Given the description of an element on the screen output the (x, y) to click on. 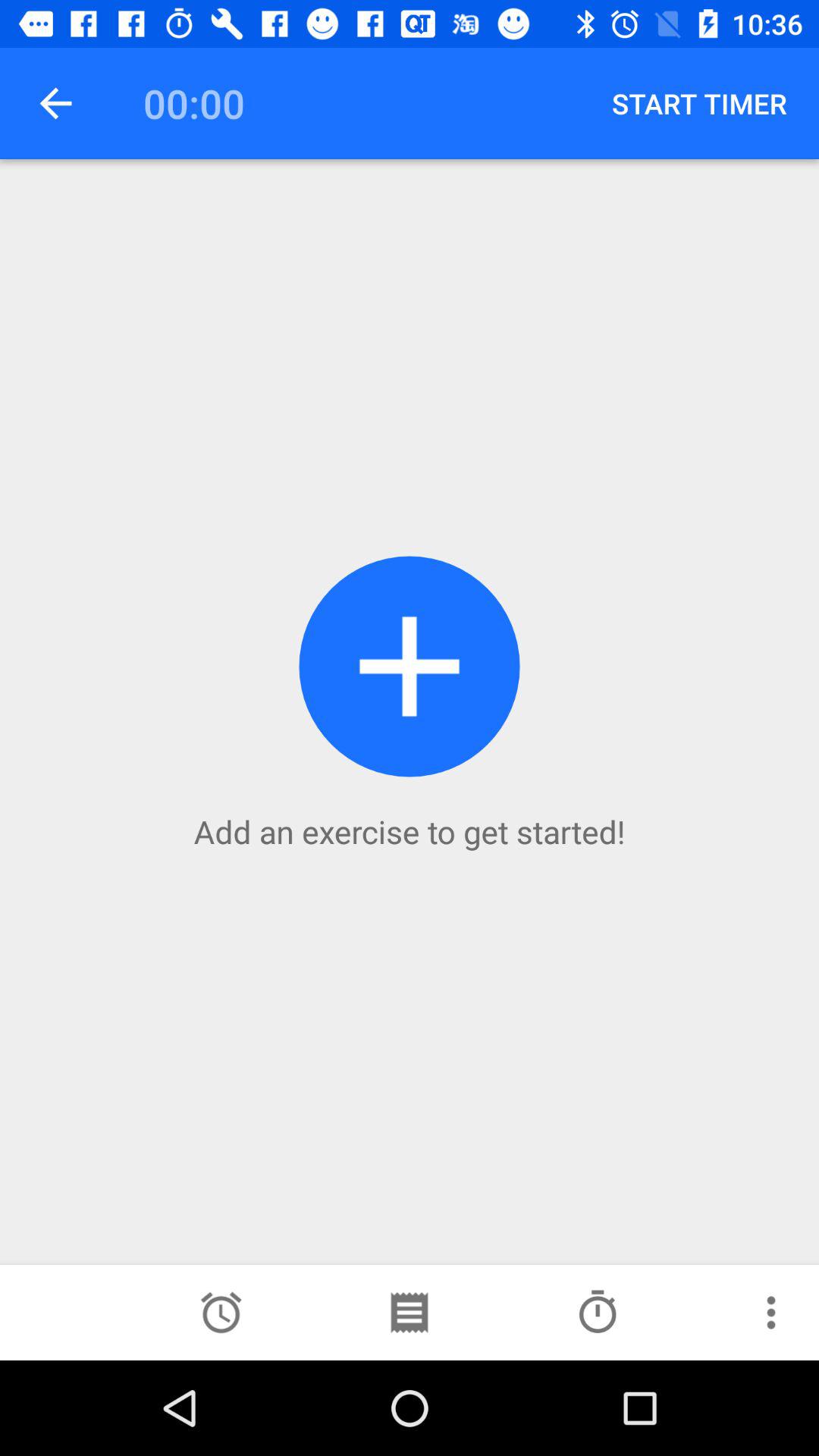
extras box (771, 1312)
